Given the description of an element on the screen output the (x, y) to click on. 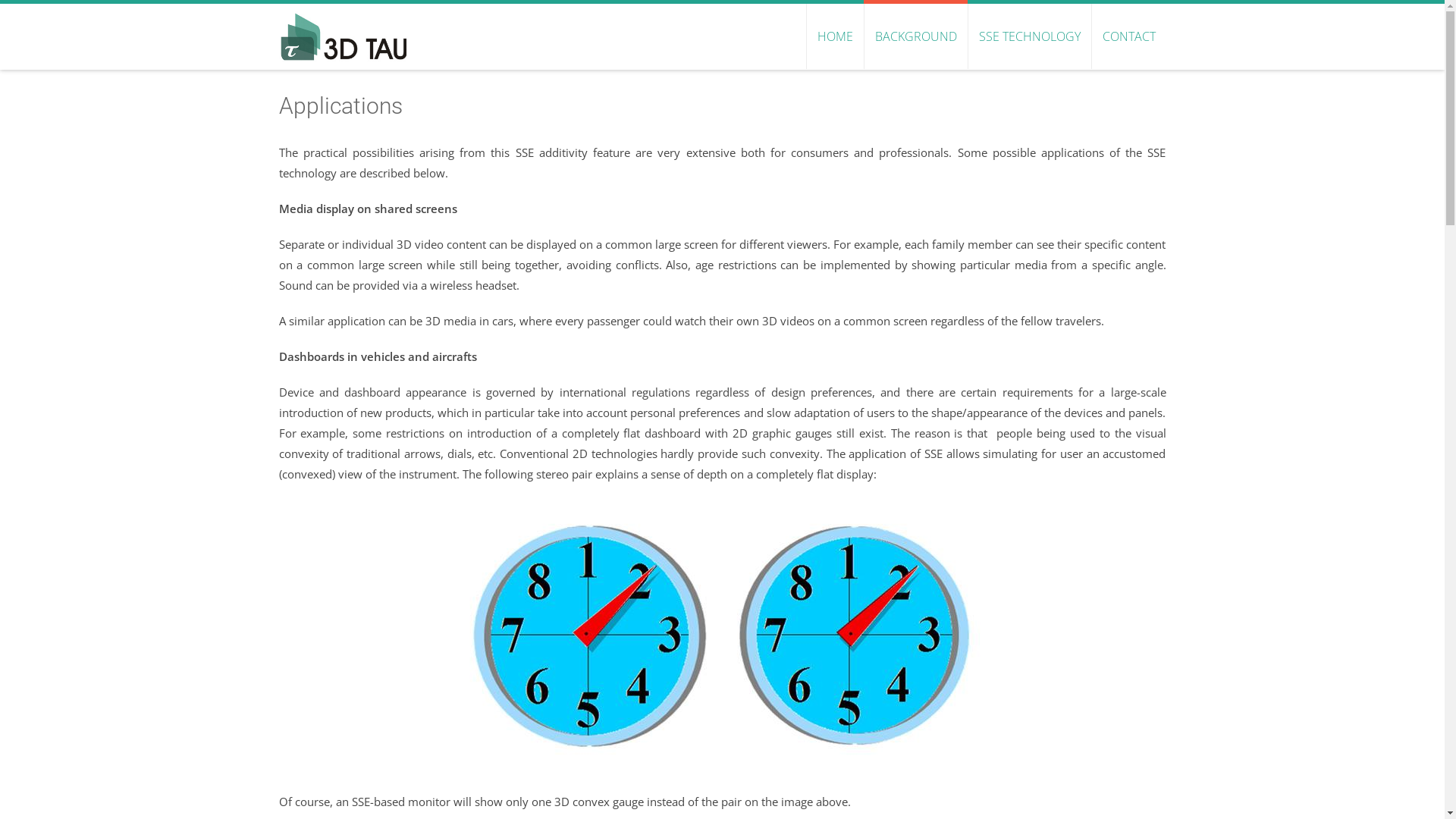
HOME Element type: text (833, 36)
SSE TECHNOLOGY Element type: text (1029, 36)
CONTACT Element type: text (1127, 36)
BACKGROUND Element type: text (914, 36)
